Given the description of an element on the screen output the (x, y) to click on. 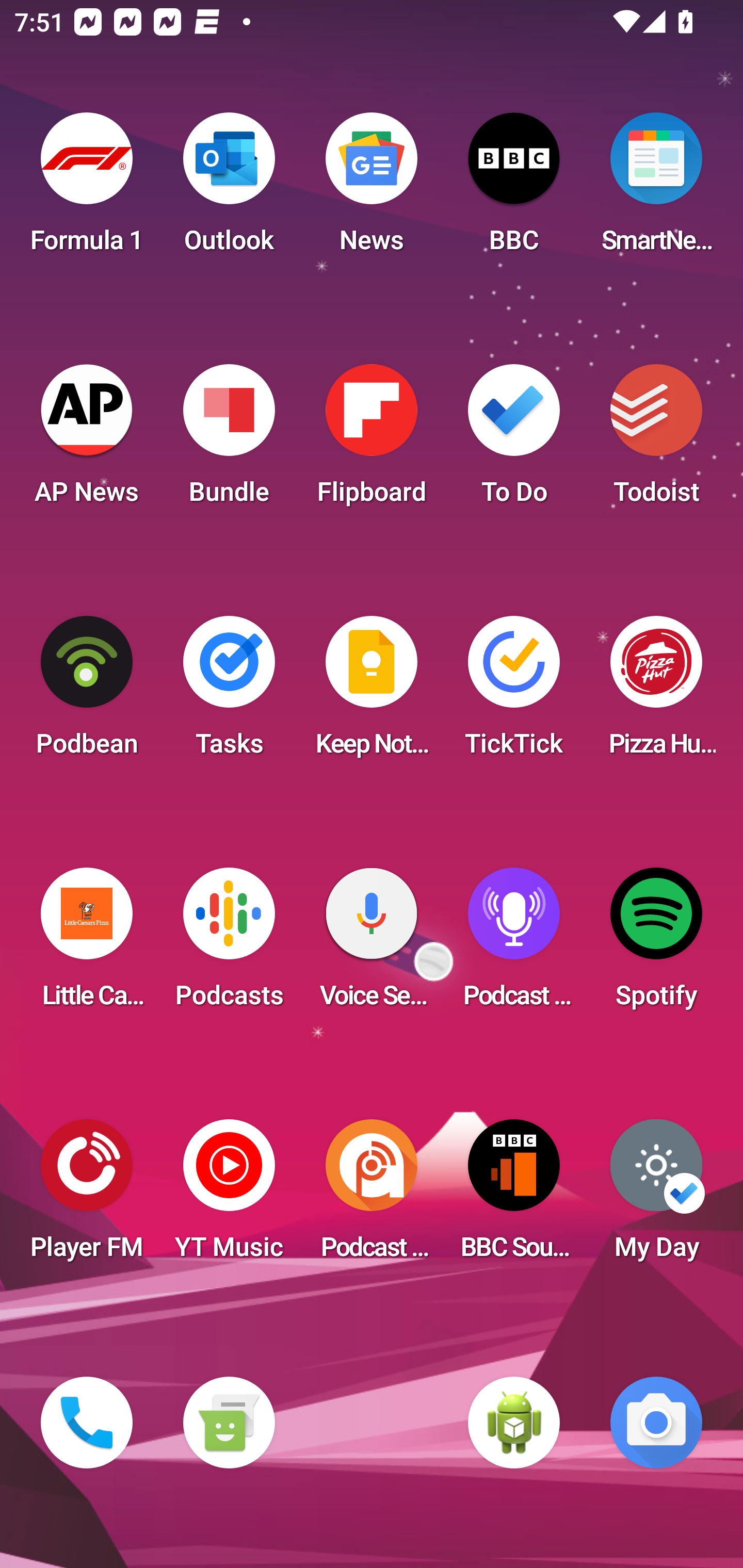
Formula 1 (86, 188)
Outlook (228, 188)
News (371, 188)
BBC (513, 188)
SmartNews (656, 188)
AP News (86, 440)
Bundle (228, 440)
Flipboard (371, 440)
To Do (513, 440)
Todoist (656, 440)
Podbean (86, 692)
Tasks (228, 692)
Keep Notes (371, 692)
TickTick (513, 692)
Pizza Hut HK & Macau (656, 692)
Little Caesars Pizza (86, 943)
Podcasts (228, 943)
Voice Search (371, 943)
Podcast Player (513, 943)
Spotify (656, 943)
Player FM (86, 1195)
YT Music (228, 1195)
Podcast Addict (371, 1195)
BBC Sounds (513, 1195)
My Day (656, 1195)
Phone (86, 1422)
Messaging (228, 1422)
WebView Browser Tester (513, 1422)
Camera (656, 1422)
